Given the description of an element on the screen output the (x, y) to click on. 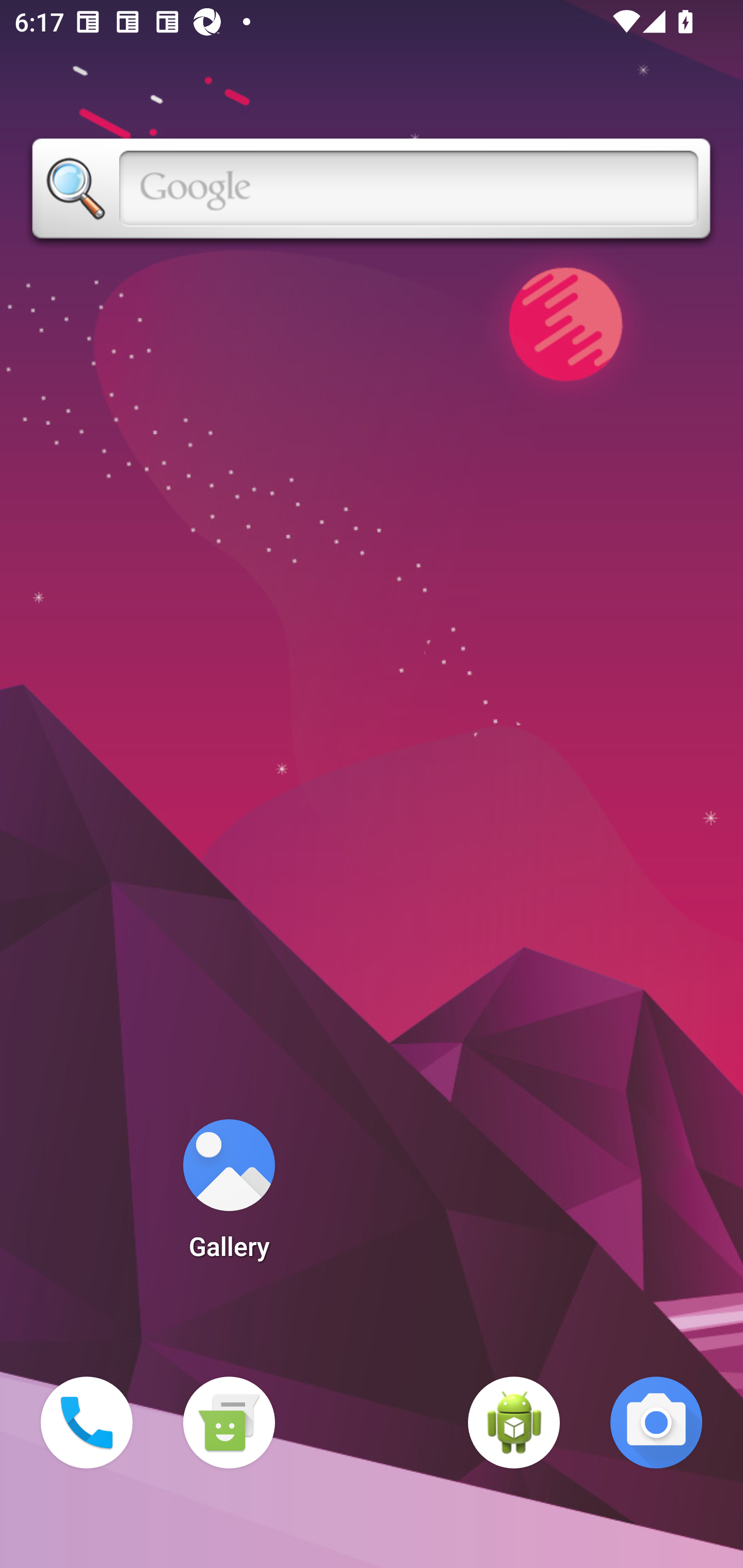
Gallery (228, 1195)
Phone (86, 1422)
Messaging (228, 1422)
WebView Browser Tester (513, 1422)
Camera (656, 1422)
